Given the description of an element on the screen output the (x, y) to click on. 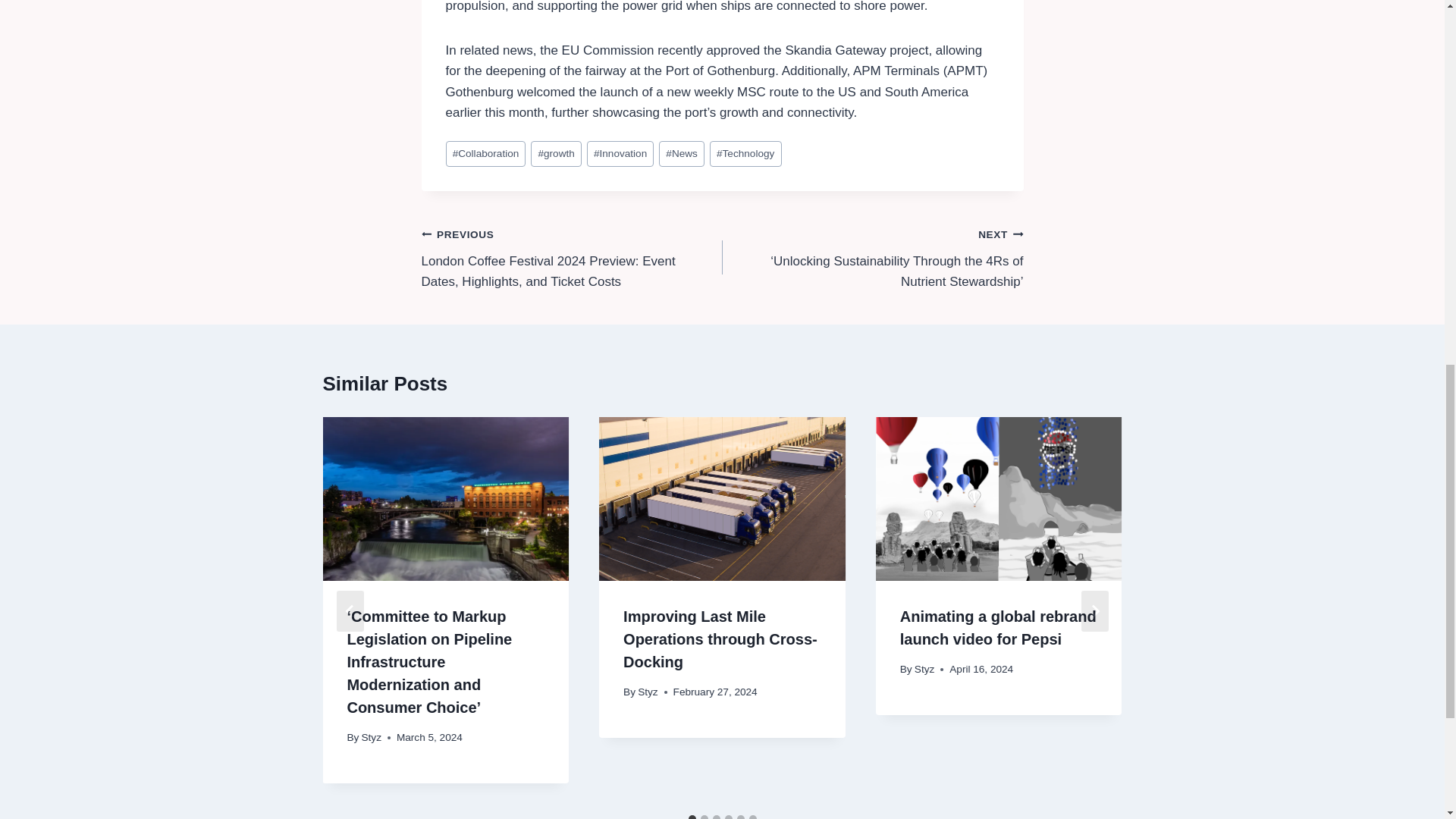
Technology (745, 153)
News (681, 153)
Innovation (619, 153)
Collaboration (485, 153)
growth (555, 153)
